Given the description of an element on the screen output the (x, y) to click on. 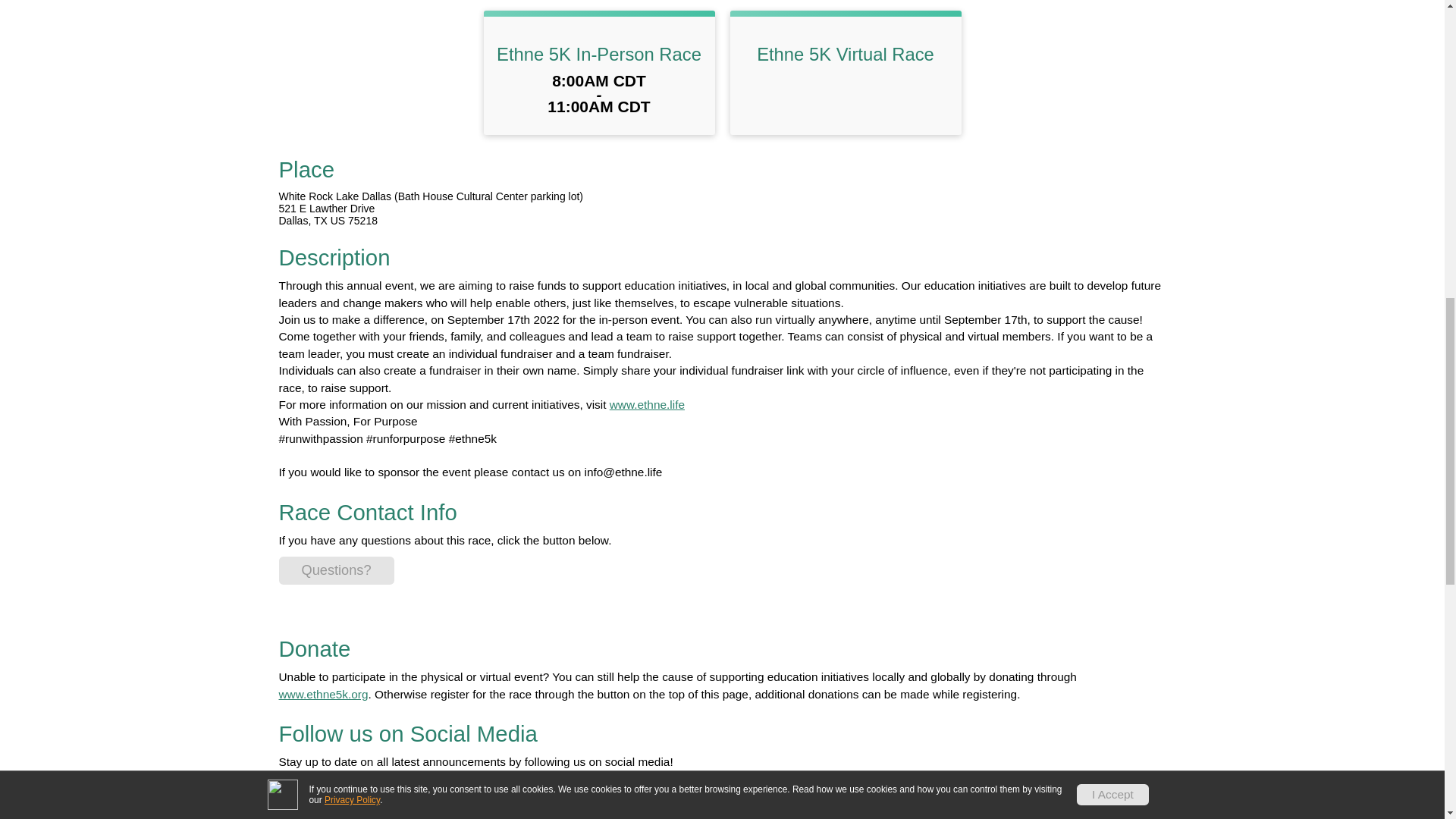
Ethne 5K In-Person Race (598, 54)
www.ethne5k.org (323, 693)
Ethne (647, 404)
www.ethne.life (647, 404)
Ethne 5K Virtual Race (845, 54)
Questions? (336, 570)
